Given the description of an element on the screen output the (x, y) to click on. 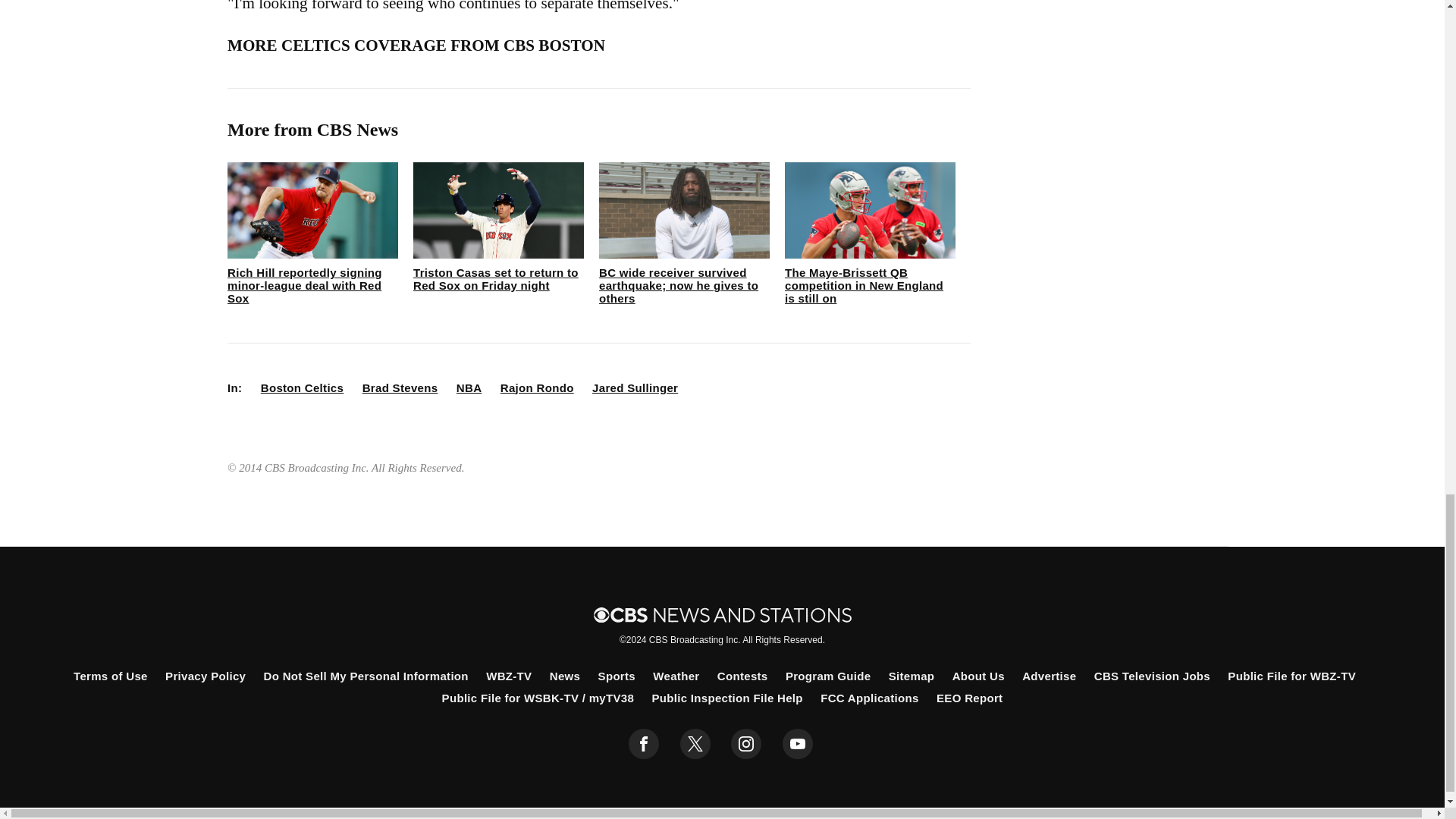
facebook (643, 743)
youtube (797, 743)
twitter (694, 743)
instagram (745, 743)
